Given the description of an element on the screen output the (x, y) to click on. 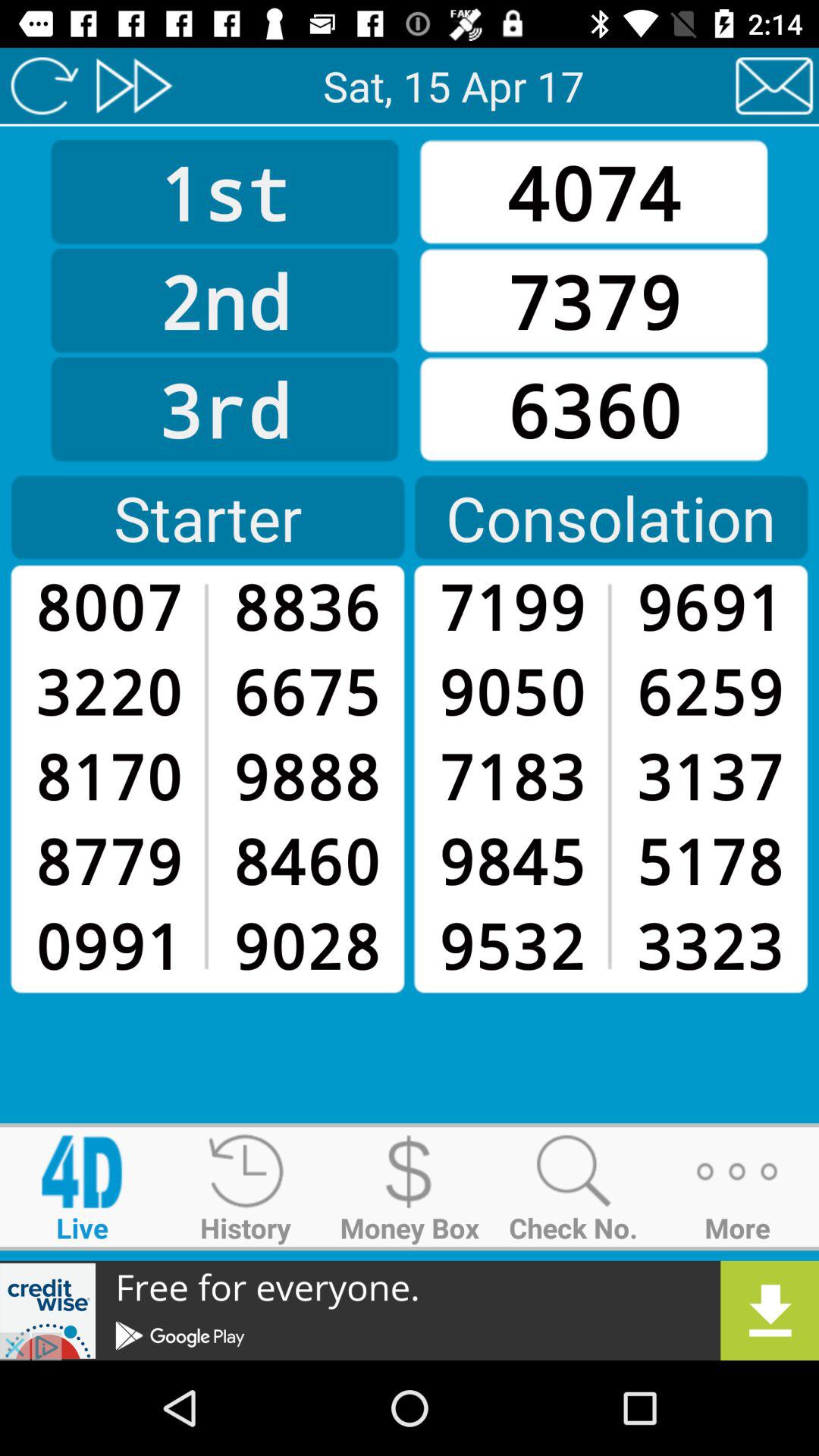
click advertisement (409, 1310)
